Given the description of an element on the screen output the (x, y) to click on. 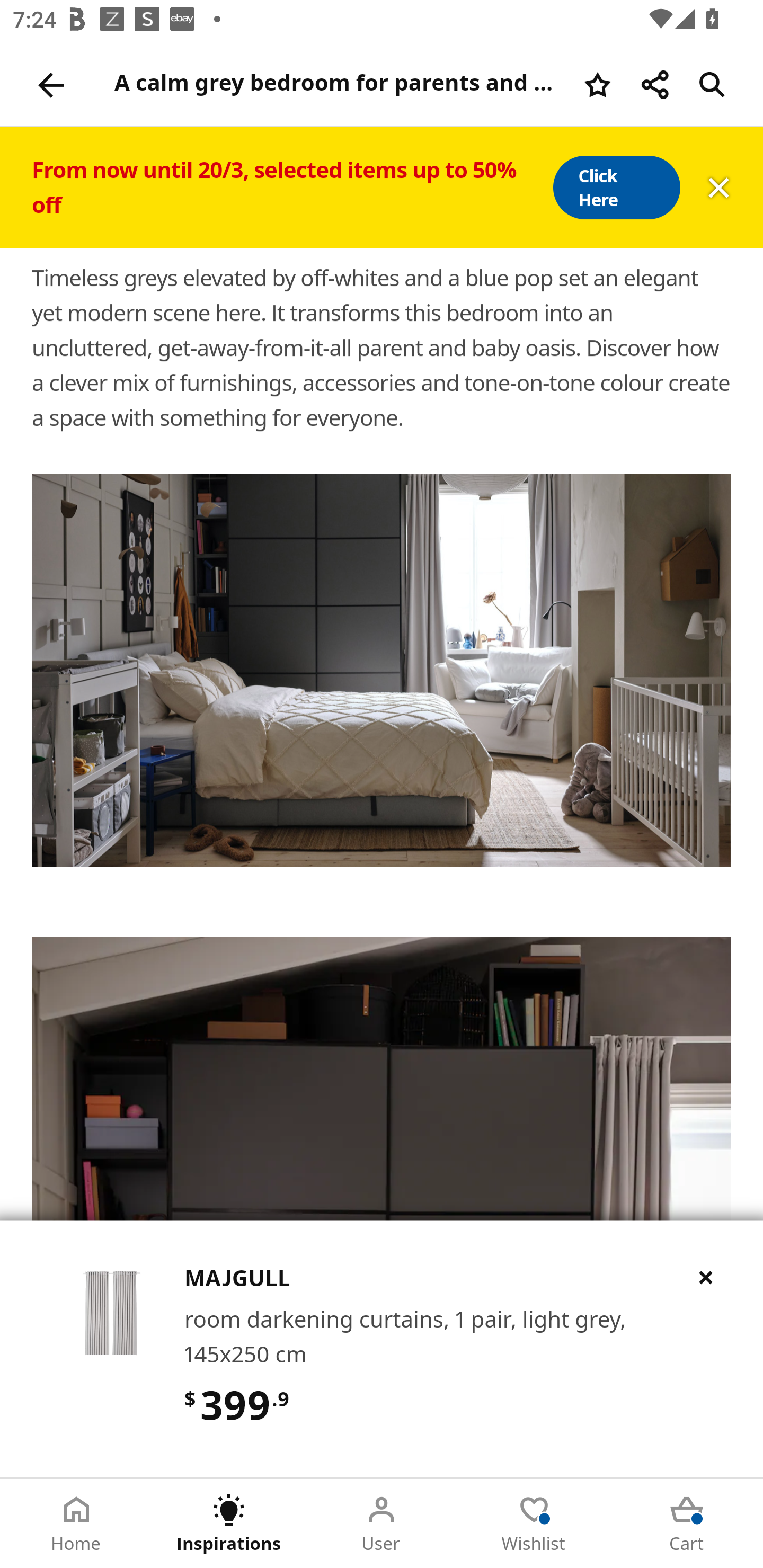
Click Here (615, 187)
Home
Tab 1 of 5 (76, 1522)
Inspirations
Tab 2 of 5 (228, 1522)
User
Tab 3 of 5 (381, 1522)
Wishlist
Tab 4 of 5 (533, 1522)
Cart
Tab 5 of 5 (686, 1522)
